Given the description of an element on the screen output the (x, y) to click on. 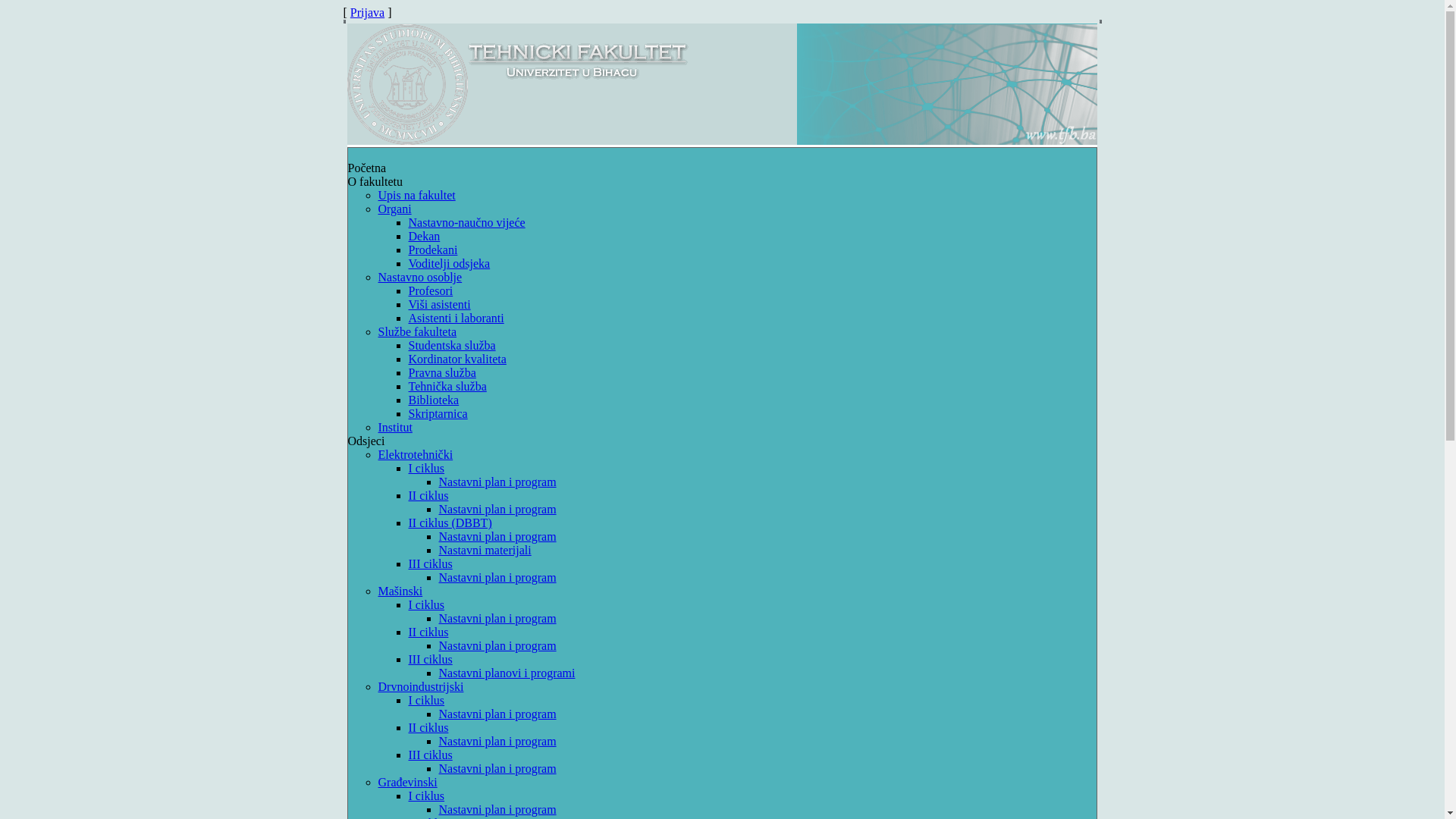
Nastavni materijali Element type: text (484, 549)
I ciklus Element type: text (425, 604)
Nastavni plan i program Element type: text (496, 740)
Drvnoindustrijski Element type: text (420, 686)
Nastavni planovi i programi Element type: text (506, 672)
II ciklus Element type: text (427, 495)
Nastavni plan i program Element type: text (496, 713)
I ciklus Element type: text (425, 467)
Nastavni plan i program Element type: text (496, 577)
III ciklus Element type: text (429, 754)
Prodekani Element type: text (432, 249)
Dekan Element type: text (423, 235)
Upis na fakultet Element type: text (416, 194)
III ciklus Element type: text (429, 658)
Nastavno osoblje Element type: text (419, 276)
Kordinator kvaliteta Element type: text (456, 358)
Nastavni plan i program Element type: text (496, 508)
I ciklus Element type: text (425, 795)
Nastavni plan i program Element type: text (496, 617)
Skriptarnica Element type: text (437, 413)
I ciklus Element type: text (425, 699)
Institut Element type: text (394, 426)
II ciklus Element type: text (427, 631)
Nastavni plan i program Element type: text (496, 536)
Asistenti i laboranti Element type: text (455, 317)
Prijava Element type: text (367, 12)
Nastavni plan i program Element type: text (496, 768)
II ciklus Element type: text (427, 727)
Organi Element type: text (394, 208)
Voditelji odsjeka Element type: text (448, 263)
Nastavni plan i program Element type: text (496, 481)
III ciklus Element type: text (429, 563)
II ciklus (DBBT) Element type: text (449, 522)
Nastavni plan i program Element type: text (496, 645)
Profesori Element type: text (429, 290)
Nastavni plan i program Element type: text (496, 809)
Biblioteka Element type: text (432, 399)
